Given the description of an element on the screen output the (x, y) to click on. 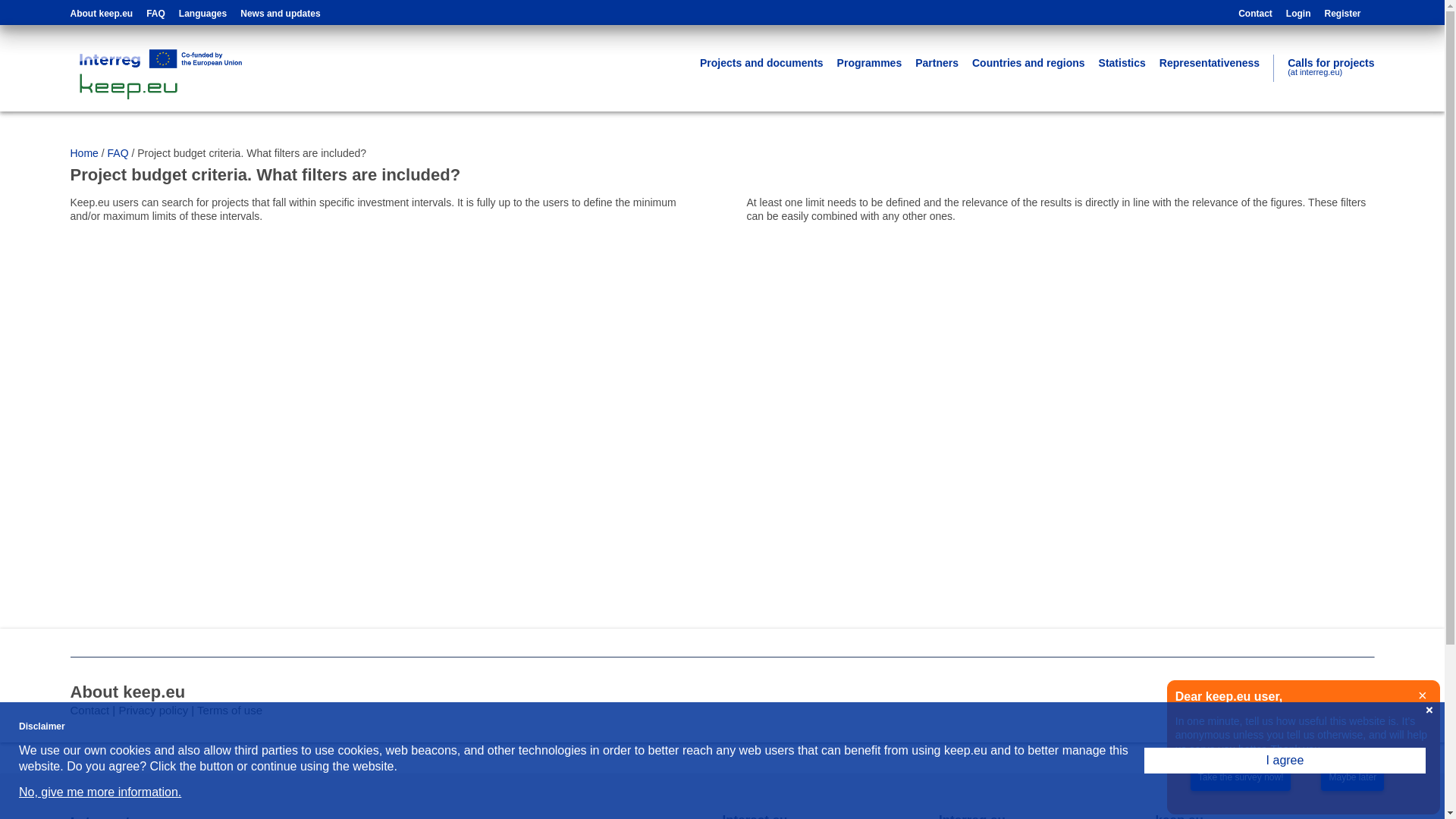
Contact (1255, 14)
Register (1341, 14)
FAQ (156, 14)
Login (1298, 14)
Languages (203, 14)
About keep.eu (100, 14)
News and updates (280, 14)
